Given the description of an element on the screen output the (x, y) to click on. 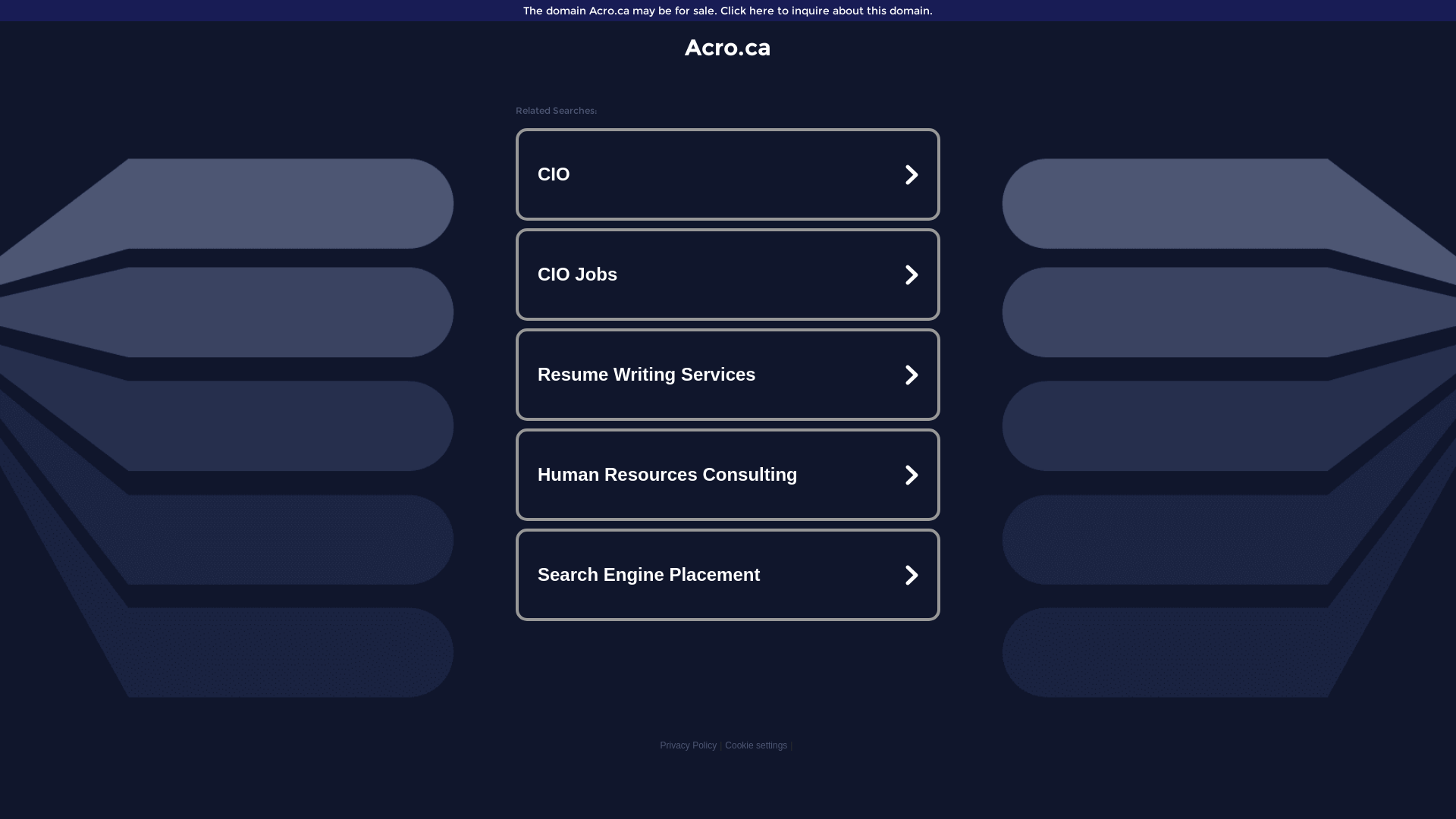
Cookie settings Element type: text (755, 745)
Search Engine Placement Element type: text (727, 574)
Privacy Policy Element type: text (687, 745)
Resume Writing Services Element type: text (727, 374)
Acro.ca Element type: text (727, 47)
CIO Element type: text (727, 174)
CIO Jobs Element type: text (727, 274)
Human Resources Consulting Element type: text (727, 474)
